Given the description of an element on the screen output the (x, y) to click on. 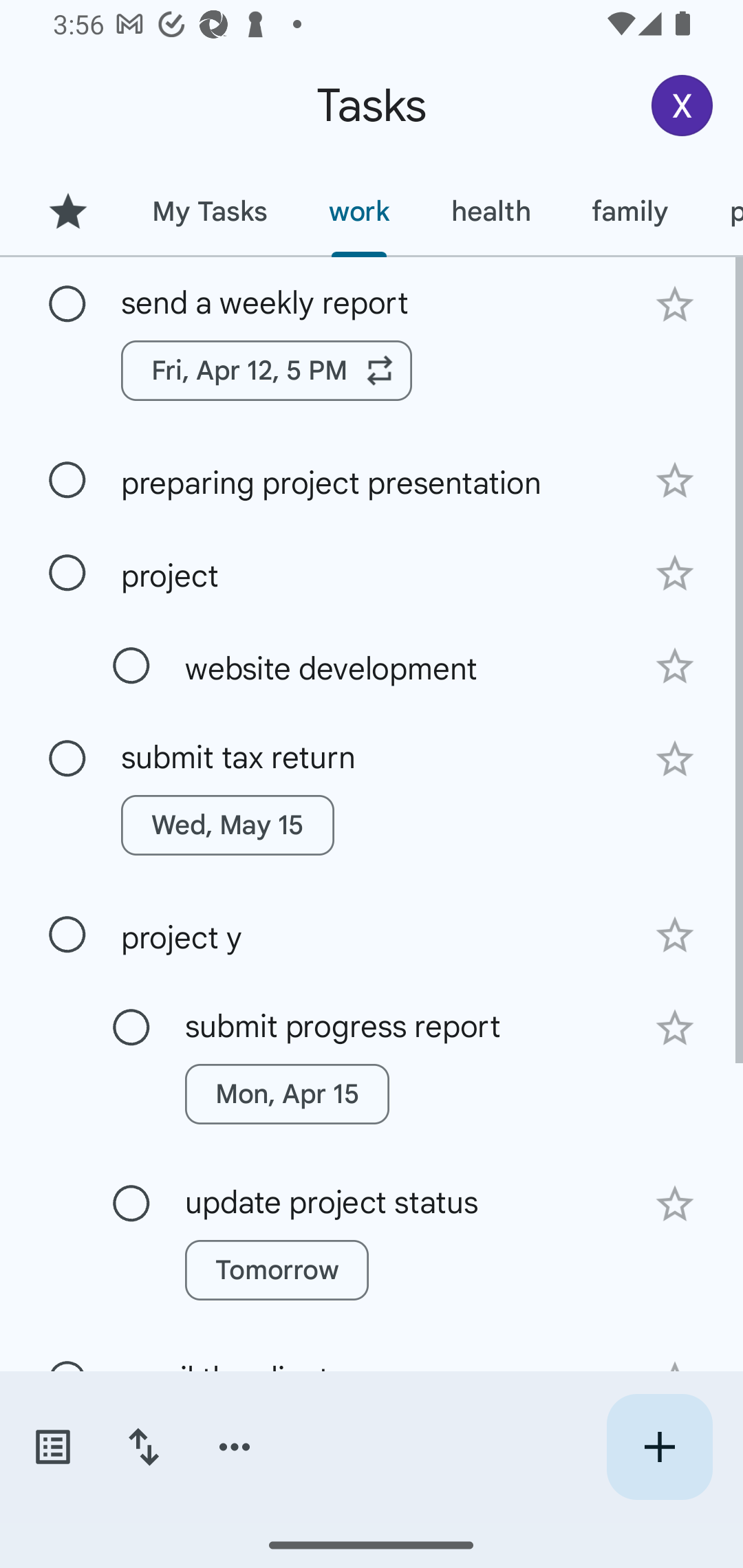
Starred (67, 211)
My Tasks (209, 211)
health (490, 211)
family (629, 211)
Add star (674, 303)
Mark as complete (67, 304)
Fri, Apr 12, 5 PM (266, 369)
Add star (674, 480)
Mark as complete (67, 480)
Add star (674, 573)
Mark as complete (67, 572)
Add star (674, 665)
Mark as complete (131, 666)
Add star (674, 758)
Mark as complete (67, 759)
Wed, May 15 (227, 824)
Add star (674, 935)
Mark as complete (67, 935)
Add star (674, 1028)
Mark as complete (131, 1027)
Mon, Apr 15 (287, 1093)
Add star (674, 1203)
Mark as complete (131, 1204)
Tomorrow (276, 1269)
Switch task lists (52, 1447)
Create new task (659, 1446)
Change sort order (143, 1446)
More options (234, 1446)
